Given the description of an element on the screen output the (x, y) to click on. 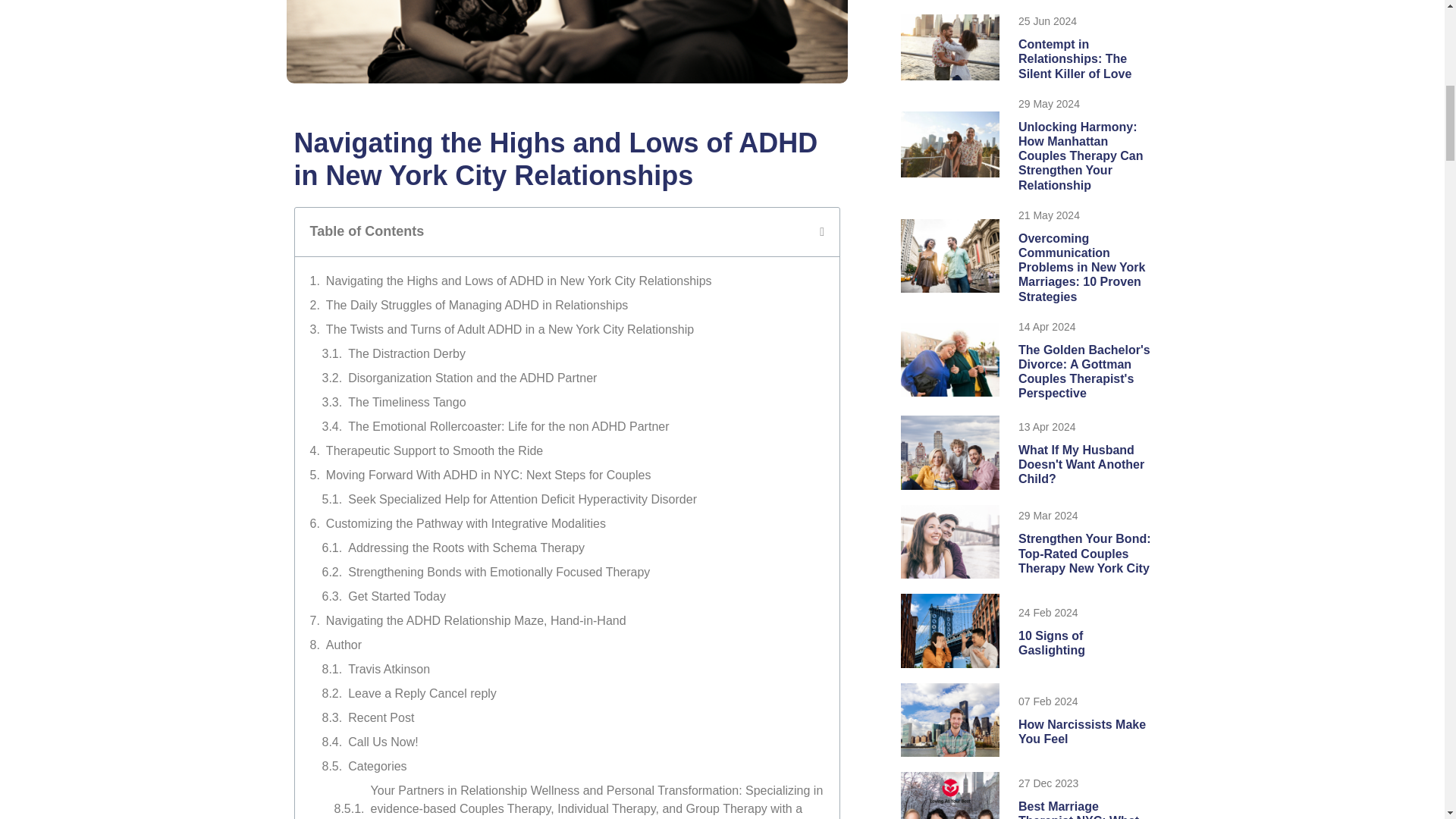
The Distraction Derby (406, 353)
The Timeliness Tango (406, 402)
Therapeutic Support to Smooth the Ride (434, 451)
The Daily Struggles of Managing ADHD in Relationships (476, 305)
Strengthening Bonds with Emotionally Focused Therapy (498, 572)
Moving Forward With ADHD in NYC: Next Steps for Couples (488, 475)
Addressing the Roots with Schema Therapy (466, 547)
Customizing the Pathway with Integrative Modalities (465, 524)
The Emotional Rollercoaster: Life for the non ADHD Partner (507, 426)
Disorganization Station and the ADHD Partner (471, 378)
